Given the description of an element on the screen output the (x, y) to click on. 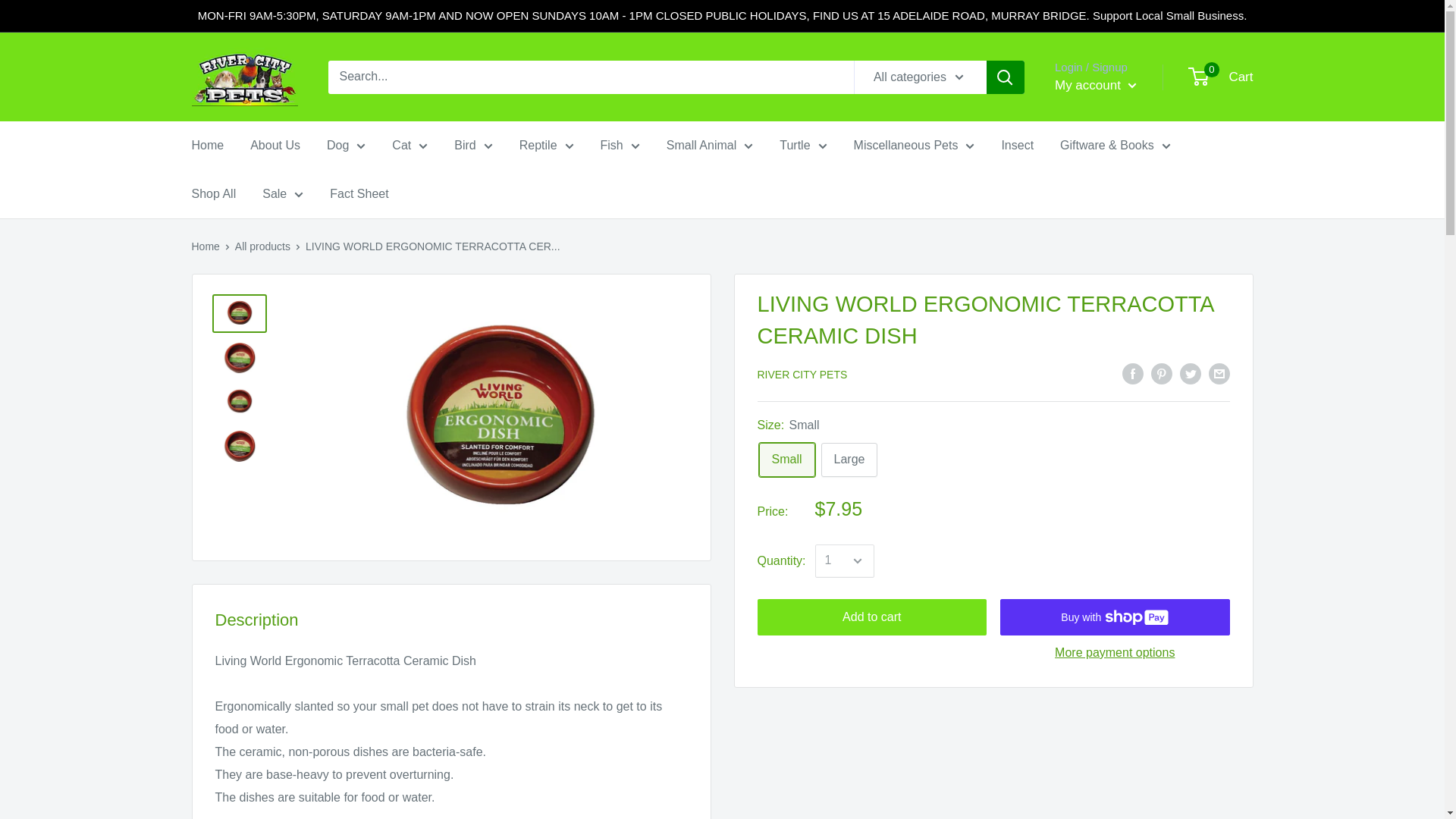
Small (785, 459)
Large (849, 459)
